Given the description of an element on the screen output the (x, y) to click on. 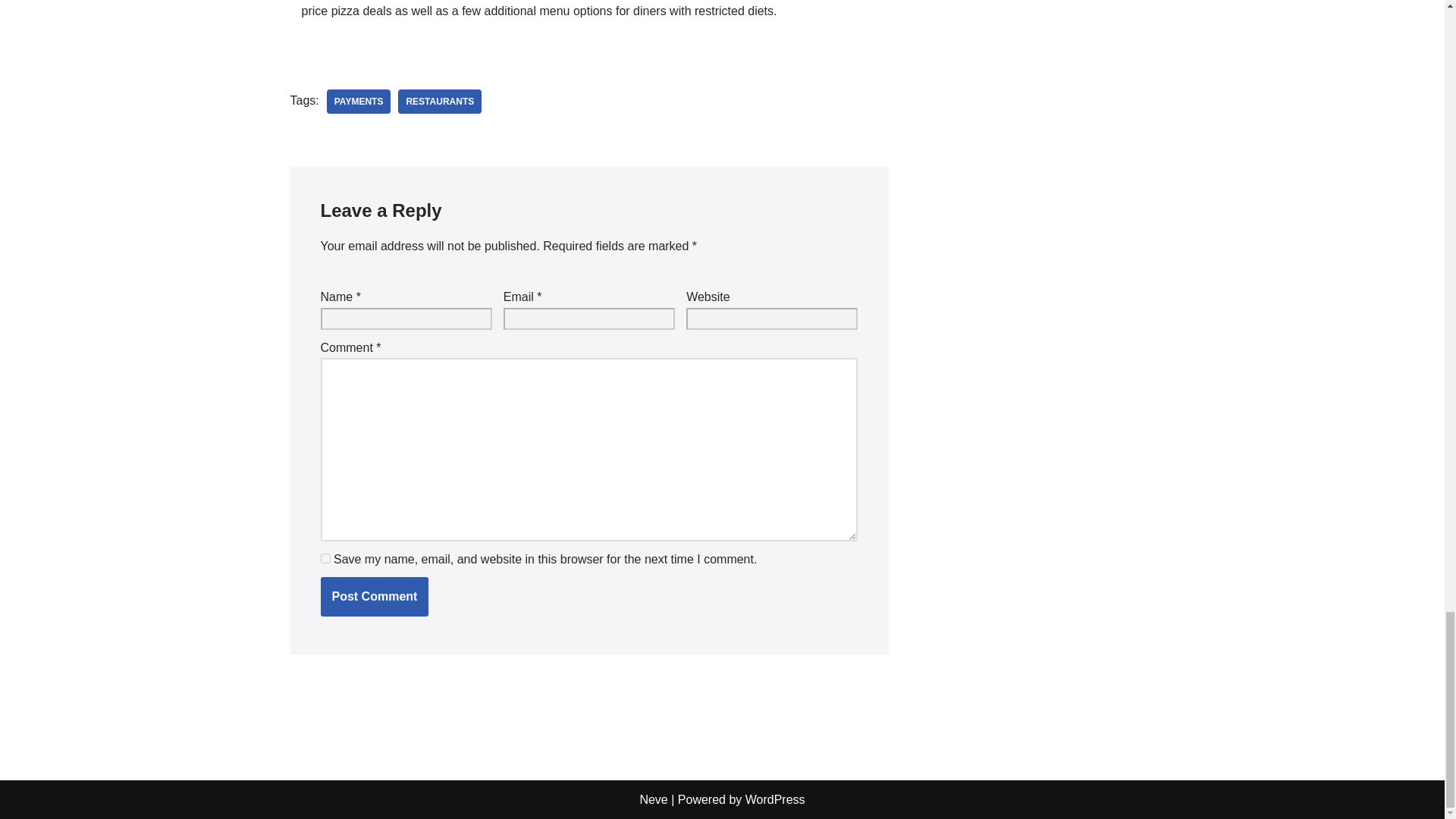
RESTAURANTS (439, 101)
payments (358, 101)
yes (325, 558)
Post Comment (374, 596)
PAYMENTS (358, 101)
restaurants (439, 101)
Post Comment (374, 596)
